Given the description of an element on the screen output the (x, y) to click on. 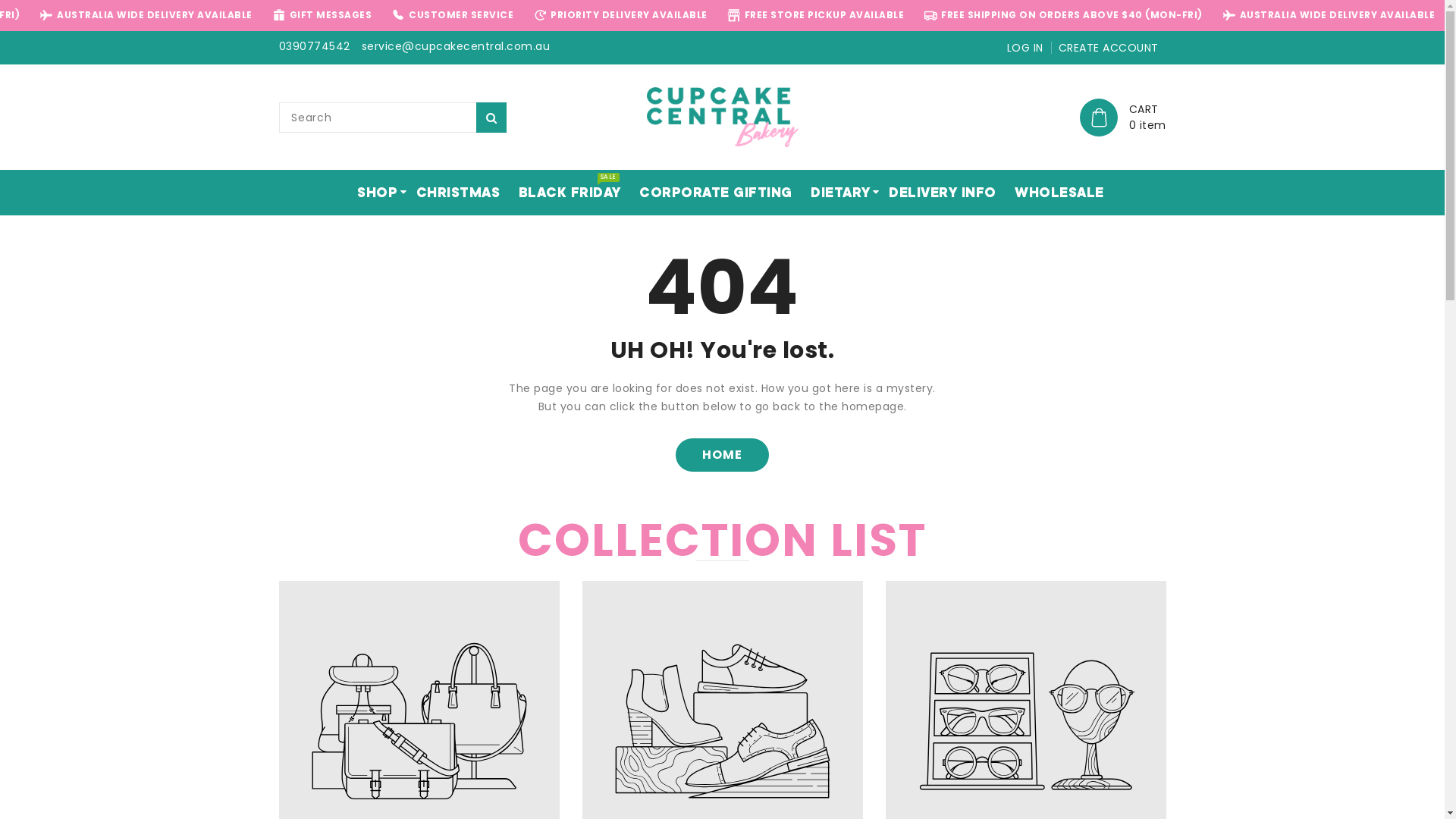
DELIVERY INFO Element type: text (933, 192)
CORPORATE GIFTING Element type: text (707, 192)
WHOLESALE Element type: text (1050, 192)
CHRISTMAS Element type: text (449, 192)
DIETARY Element type: text (831, 192)
SHOP Element type: text (368, 192)
0390774542 Element type: text (314, 45)
service@cupcakecentral.com.au Element type: text (454, 45)
CART
0 item Element type: text (1122, 117)
BLACK FRIDAY
SALE Element type: text (561, 192)
HOME Element type: text (721, 454)
